Given the description of an element on the screen output the (x, y) to click on. 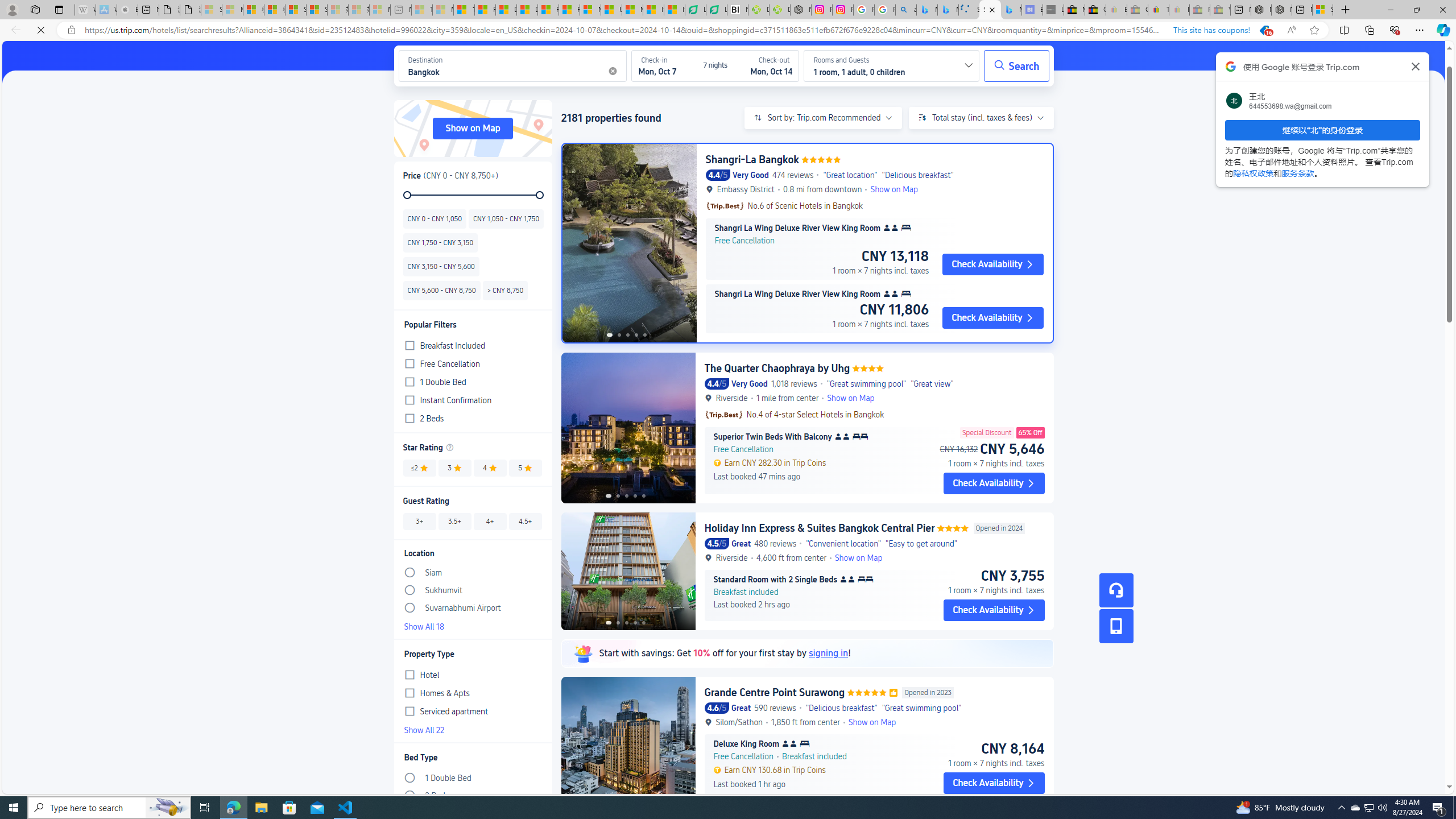
474 reviews (792, 174)
4.5+ (524, 520)
Class: m-lazyImg__img (582, 653)
LendingTree - Compare Lenders (716, 9)
4+ (489, 520)
1,018 reviews (793, 383)
Shangri-La Bangkok (751, 159)
